Given the description of an element on the screen output the (x, y) to click on. 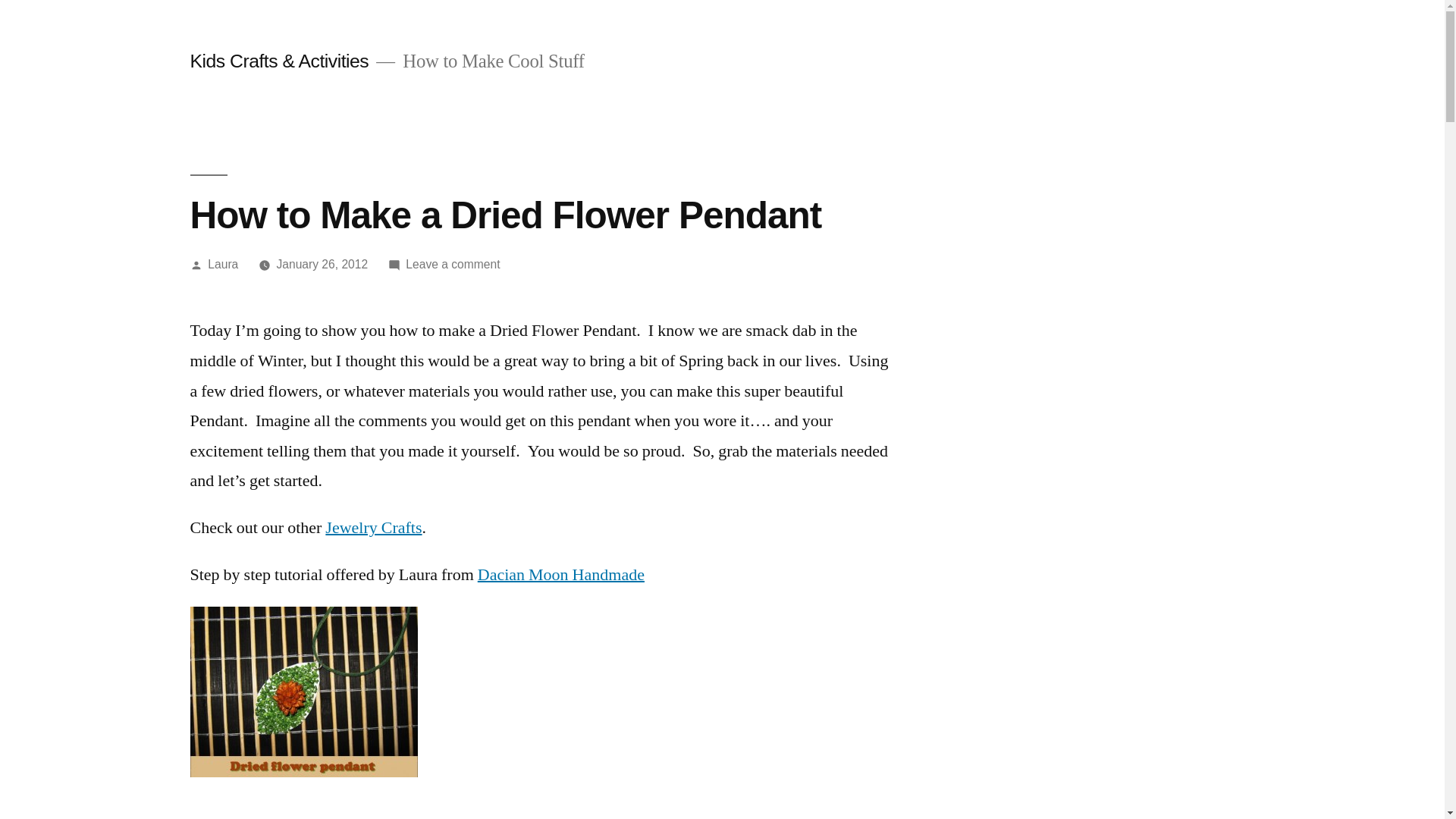
Laura (452, 264)
January 26, 2012 (223, 264)
Dacian Moon Handmade (322, 264)
Jewelry Crafts (561, 574)
